Given the description of an element on the screen output the (x, y) to click on. 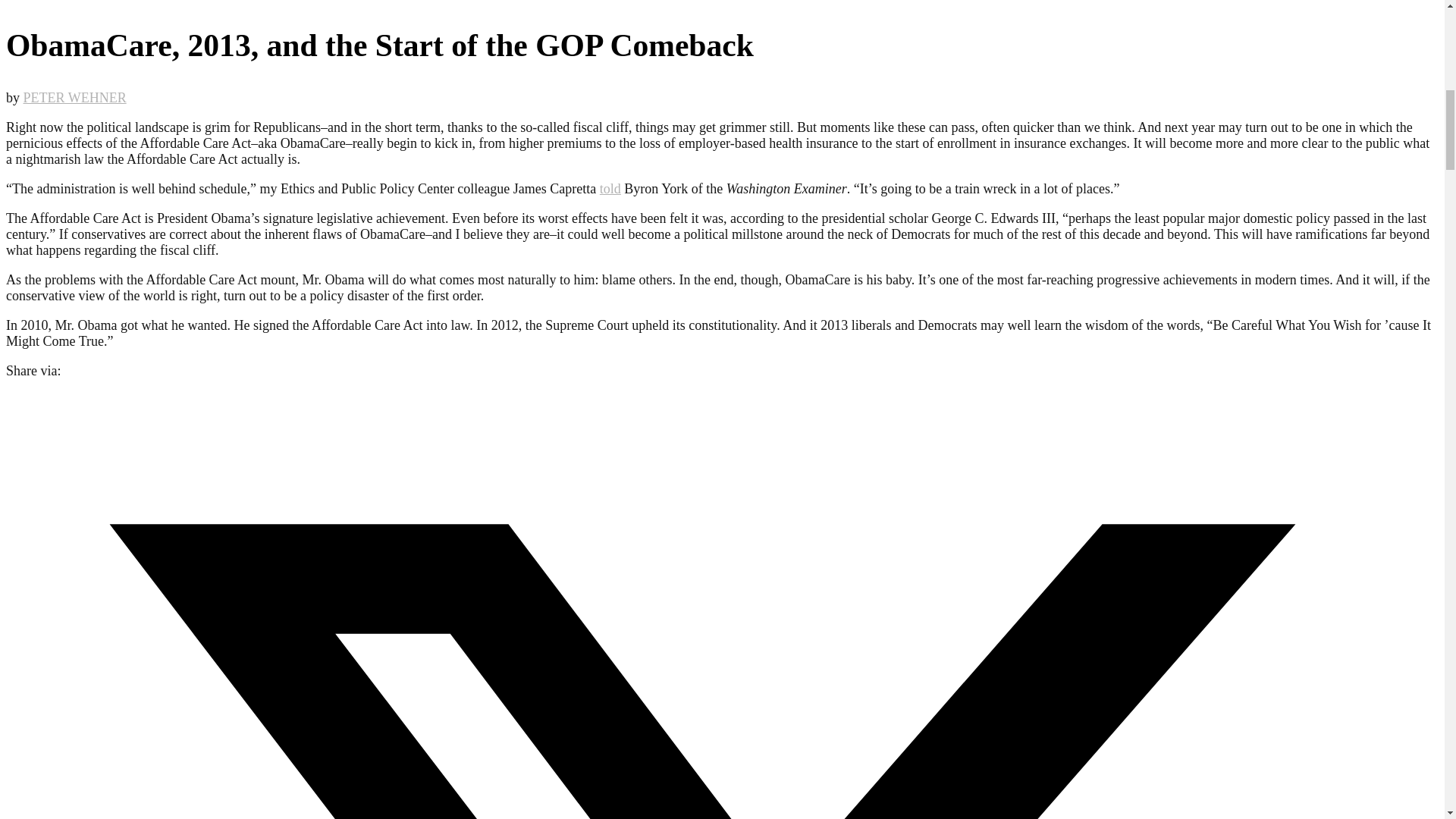
PETER WEHNER (74, 97)
Posts by PETER WEHNER (74, 97)
told (610, 188)
